Given the description of an element on the screen output the (x, y) to click on. 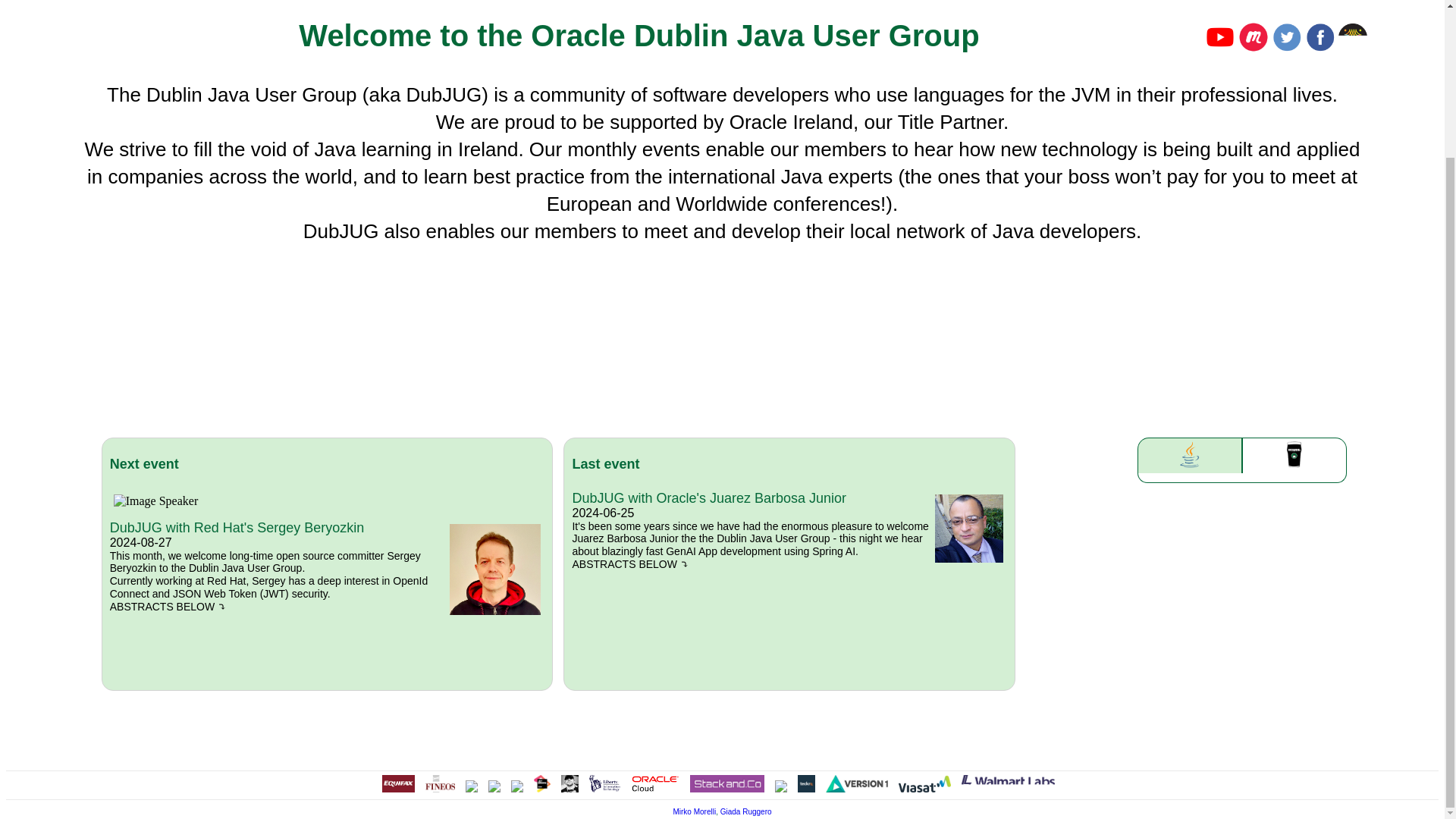
DubJUG with Oracle's Juarez Barbosa Junior (708, 498)
Last event (789, 464)
DubJUG with Red Hat's Sergey Beryozkin (237, 527)
Next event (327, 464)
